Given the description of an element on the screen output the (x, y) to click on. 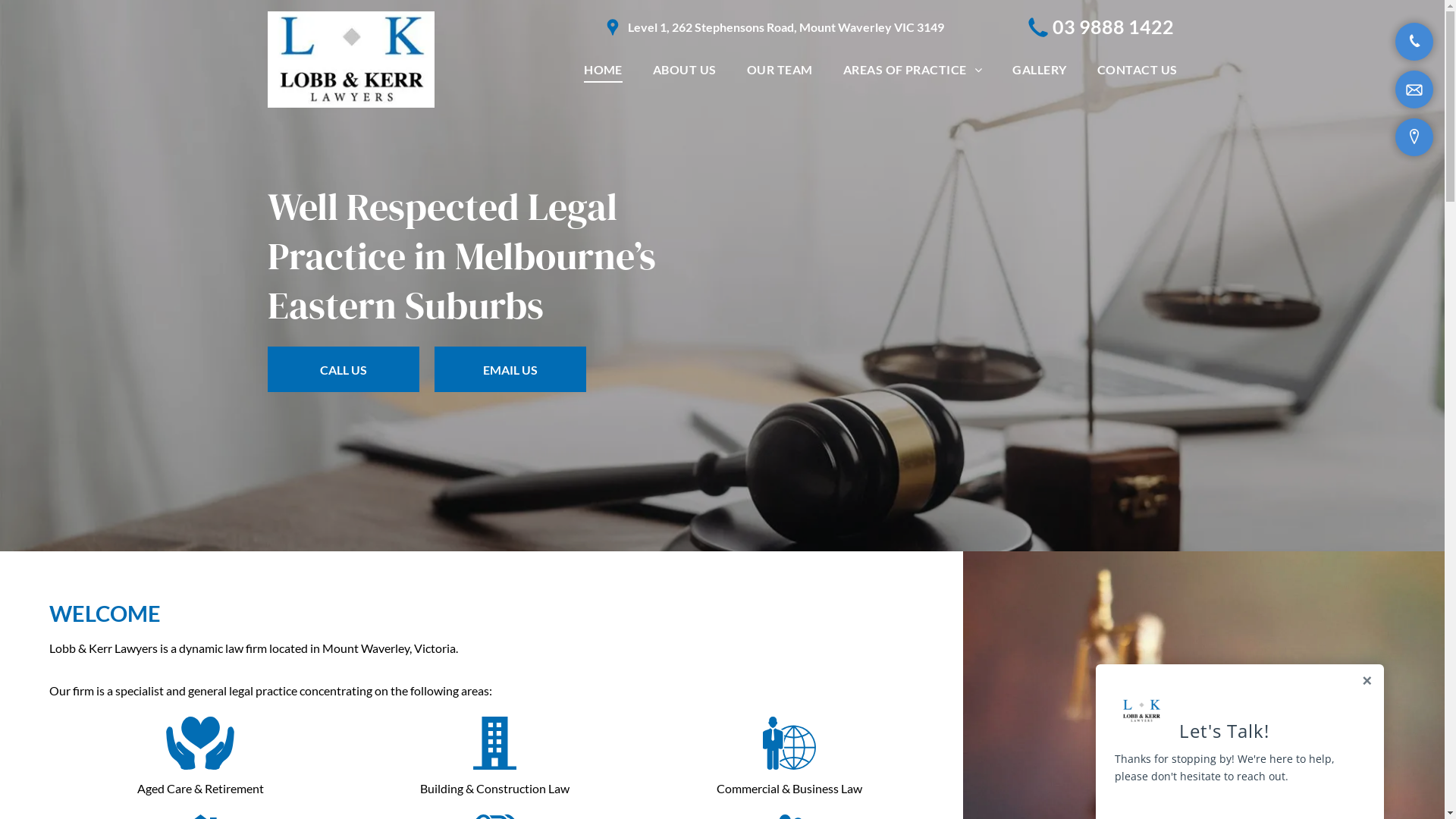
CONTACT US Element type: text (1121, 68)
GALLERY Element type: text (1024, 68)
ABOUT US Element type: text (669, 68)
HOME Element type: text (587, 68)
OUR TEAM Element type: text (764, 68)
Level 1, 262 Stephensons Road, Mount Waverley VIC 3149 Element type: text (785, 26)
CALL US Element type: text (342, 369)
03 9888 1422 Element type: text (1112, 26)
AREAS OF PRACTICE Element type: text (897, 68)
EMAIL US Element type: text (509, 369)
Lobb & Kerr Lawyers Element type: hover (349, 59)
